Given the description of an element on the screen output the (x, y) to click on. 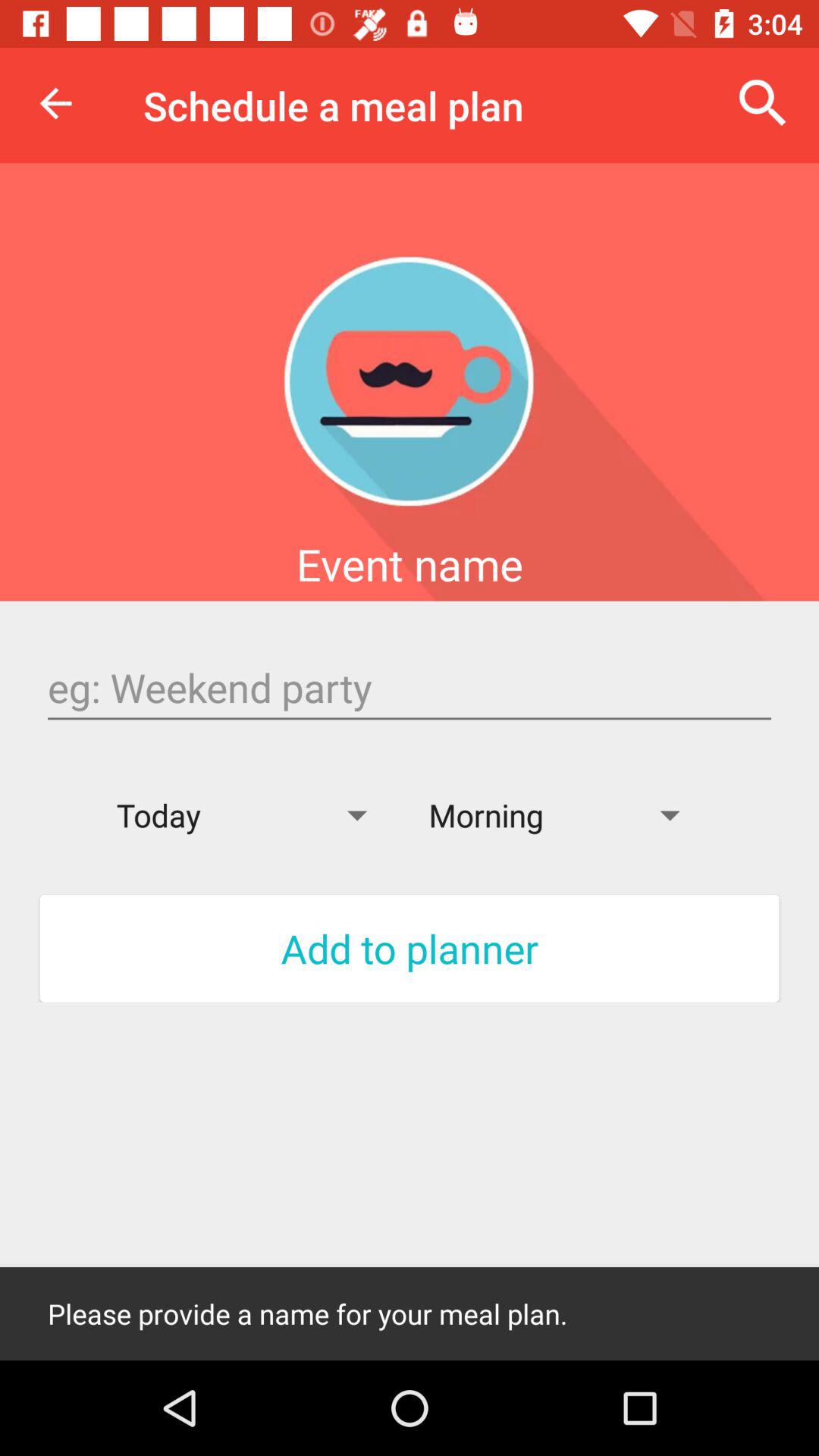
enter name (409, 687)
